Given the description of an element on the screen output the (x, y) to click on. 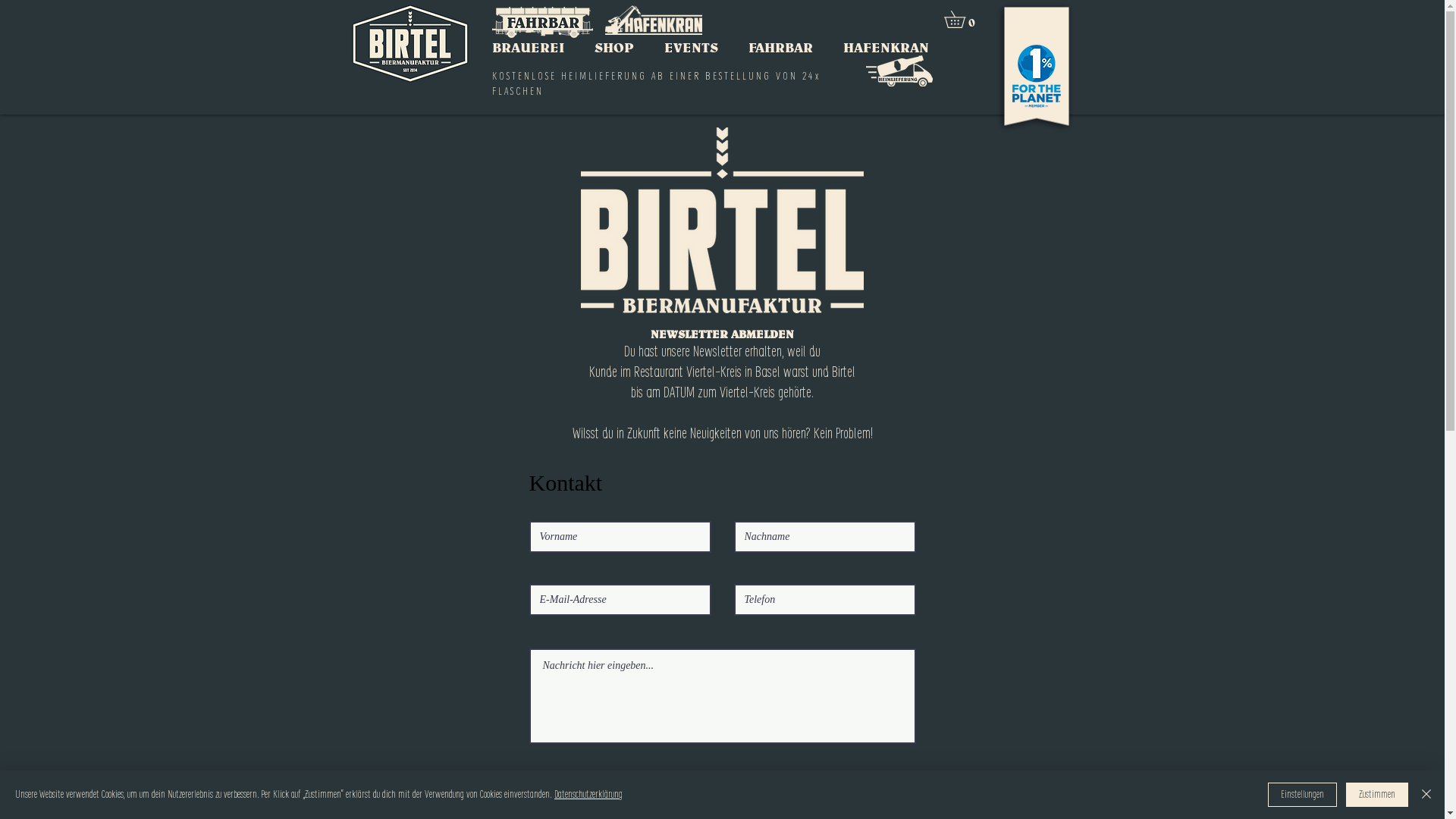
Zustimmen Element type: text (1377, 794)
Einstellungen Element type: text (1301, 794)
SHOP Element type: text (614, 47)
0 Element type: text (962, 19)
HAFENKRAN Element type: text (886, 47)
FAHRBAR Element type: text (780, 47)
Einreichen Element type: text (583, 789)
BRAUEREI Element type: text (527, 47)
EVENTS Element type: text (691, 47)
